Given the description of an element on the screen output the (x, y) to click on. 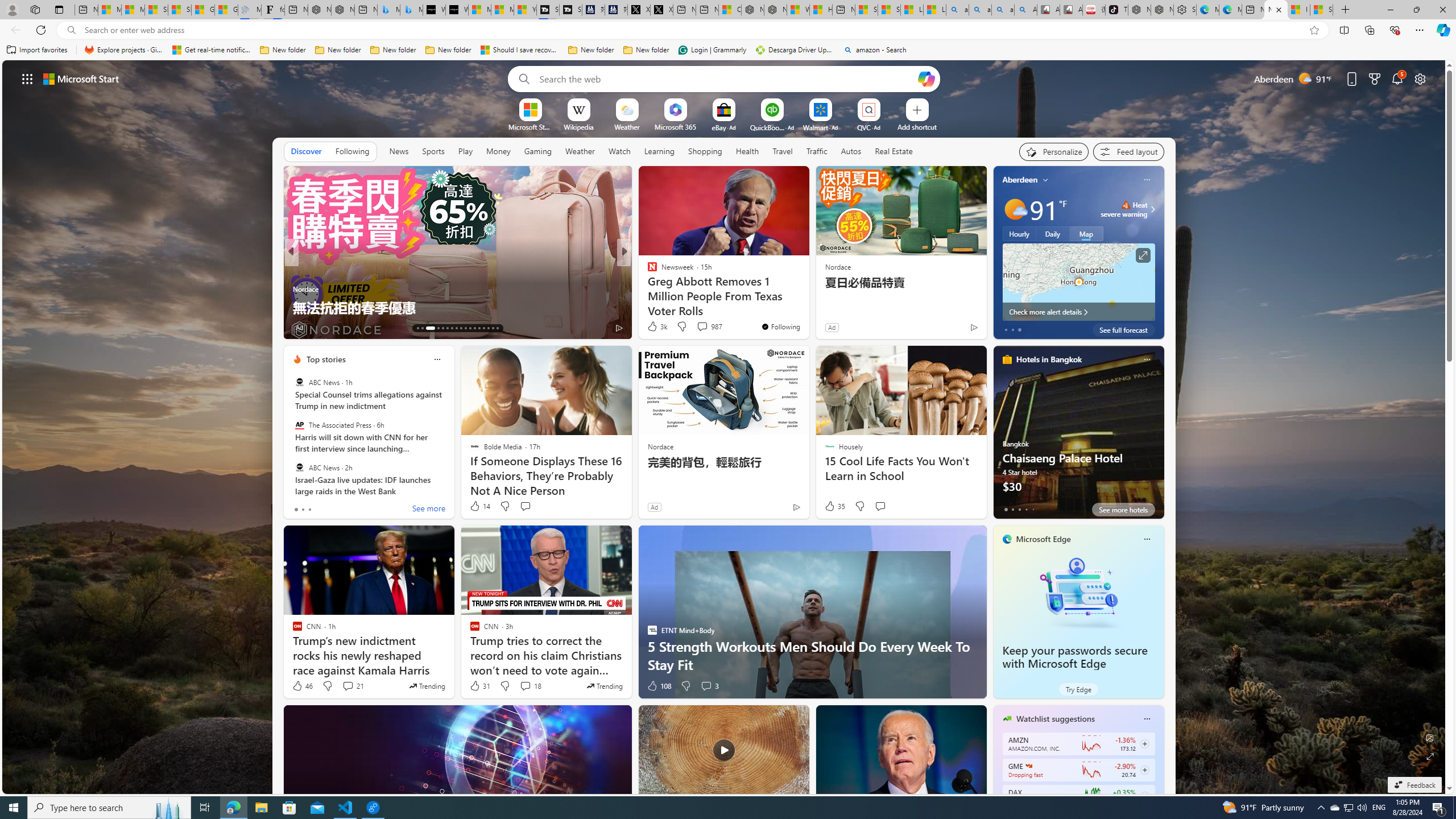
69 Like (652, 327)
AutomationID: tab-20 (456, 328)
12 Like (652, 327)
Heat - Severe (1126, 204)
Enter your search term (726, 78)
View comments 22 Comment (707, 327)
View comments 85 Comment (698, 327)
View comments 987 Comment (708, 326)
View comments 52 Comment (704, 327)
